Given the description of an element on the screen output the (x, y) to click on. 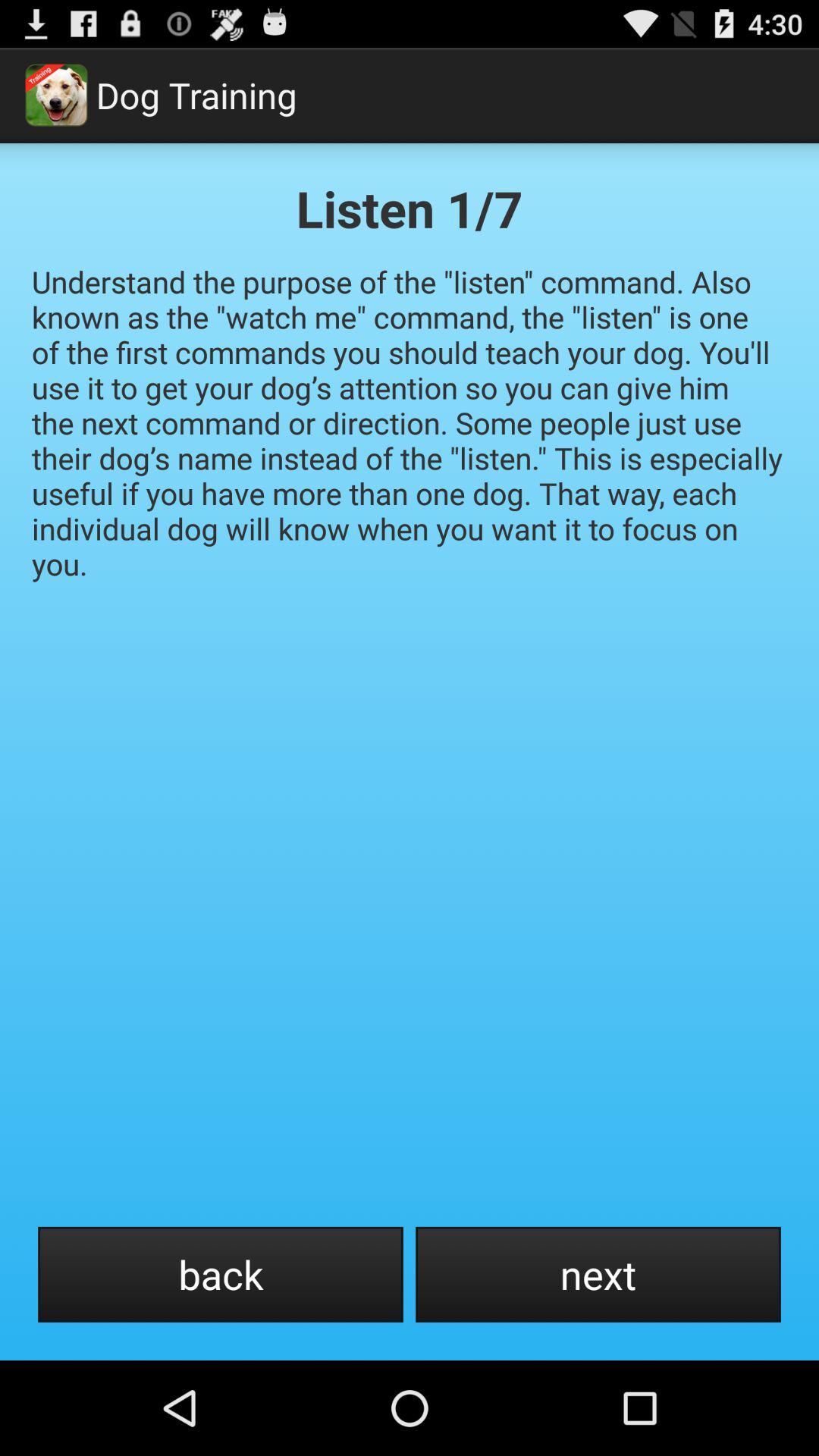
tap next item (597, 1274)
